Given the description of an element on the screen output the (x, y) to click on. 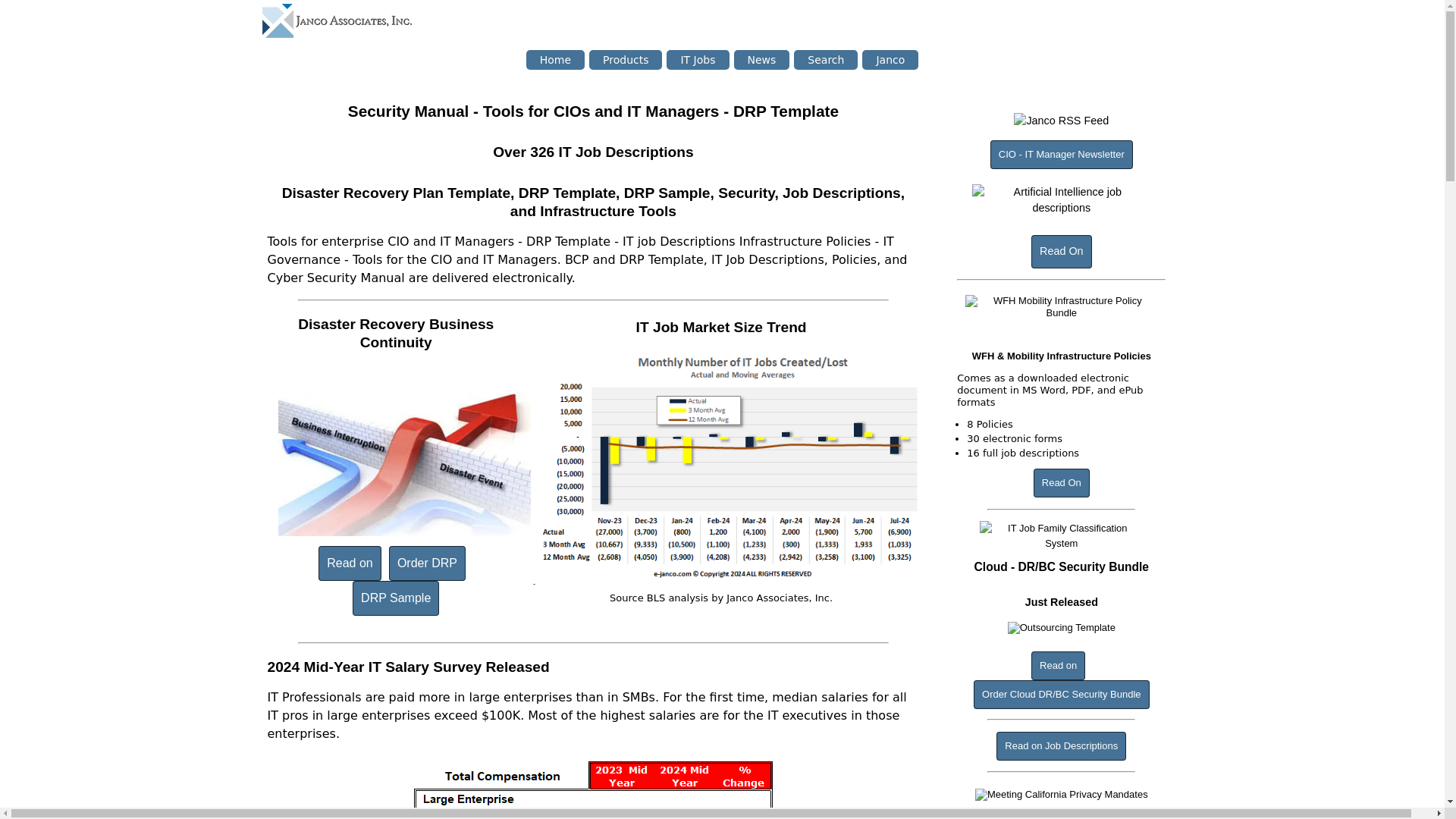
Home (555, 59)
Products (625, 59)
Mean IT salaries  (593, 787)
Search (825, 59)
IT Job Famiies (1060, 535)
California Privacy Law (1062, 796)
AI ML Team Job Descriptions (1060, 202)
News (761, 59)
IT Jobs (697, 59)
